Given the description of an element on the screen output the (x, y) to click on. 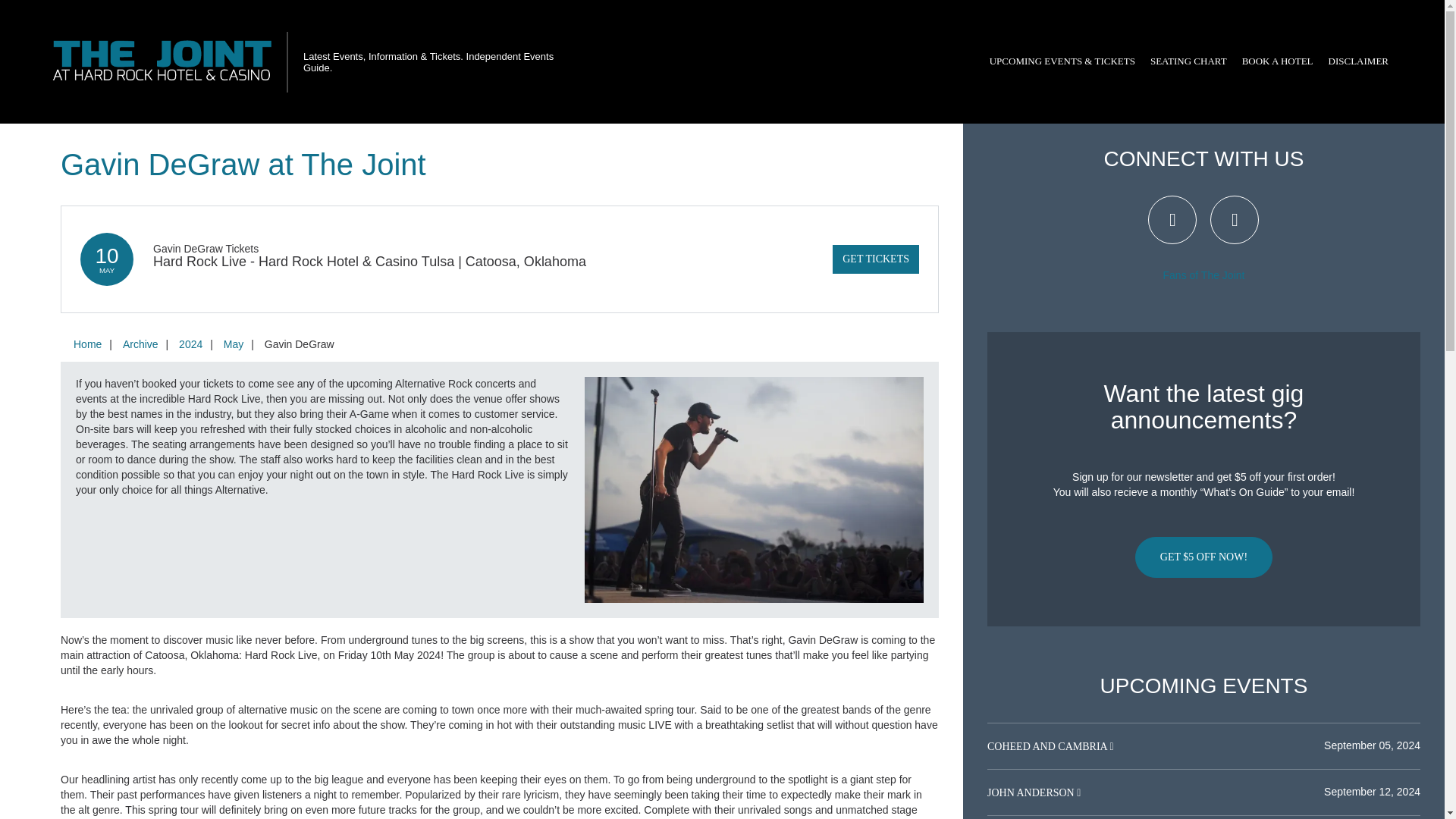
2024 (190, 344)
Gavin DeGraw Tickets (205, 248)
COHEED AND CAMBRIA (1048, 746)
SEATING CHART (1188, 61)
Archive (140, 344)
Fans of The Joint (1203, 275)
BOOK A HOTEL (1277, 61)
GET TICKETS (875, 258)
JOHN ANDERSON (1032, 792)
DISCLAIMER (1358, 61)
